Given the description of an element on the screen output the (x, y) to click on. 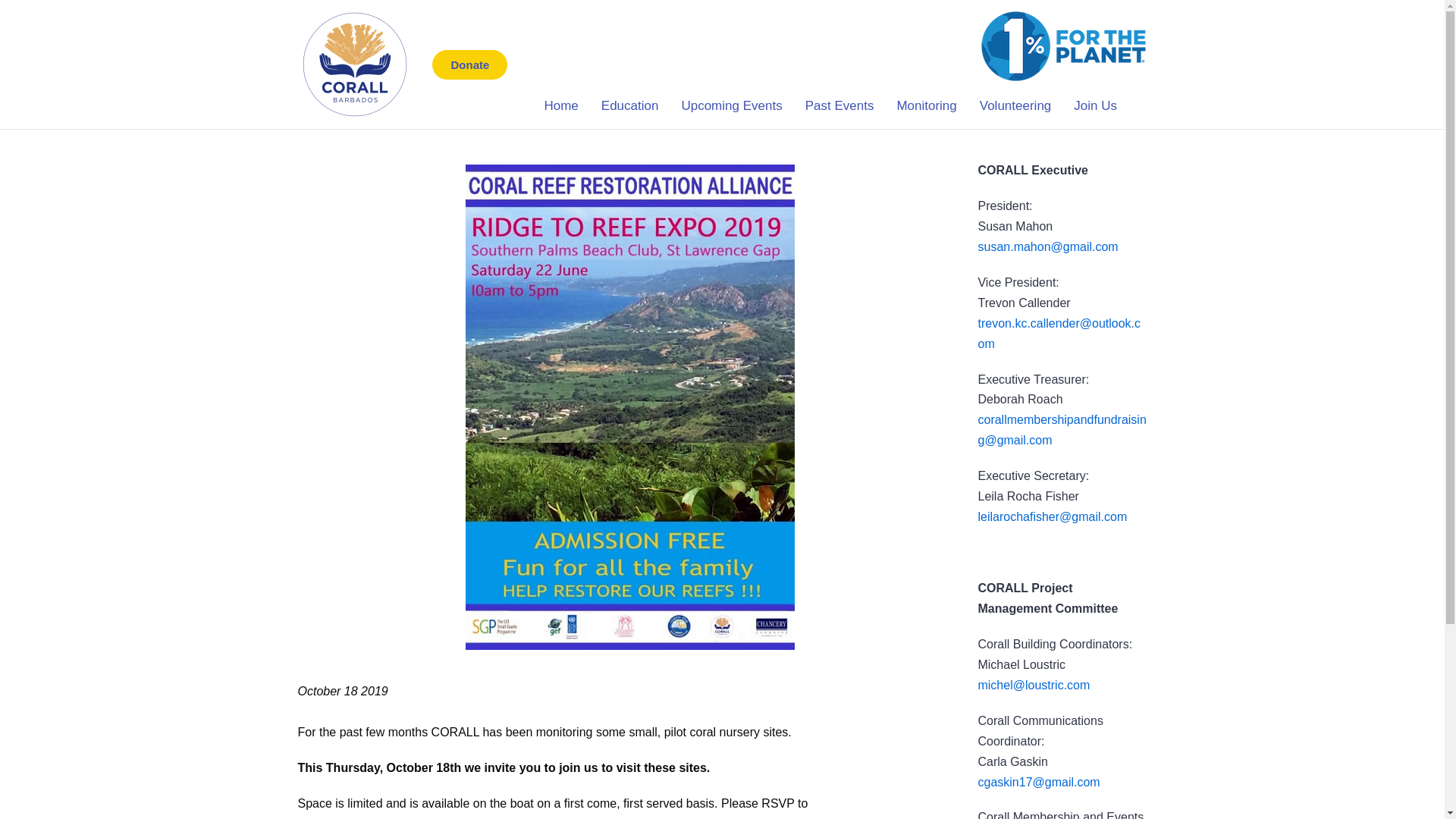
Home (560, 105)
Monitoring (926, 105)
Skip to content (15, 7)
Education (629, 105)
Donate (469, 64)
Join Us (1095, 105)
Volunteering (1015, 105)
Past Events (839, 105)
Upcoming Events (731, 105)
